Given the description of an element on the screen output the (x, y) to click on. 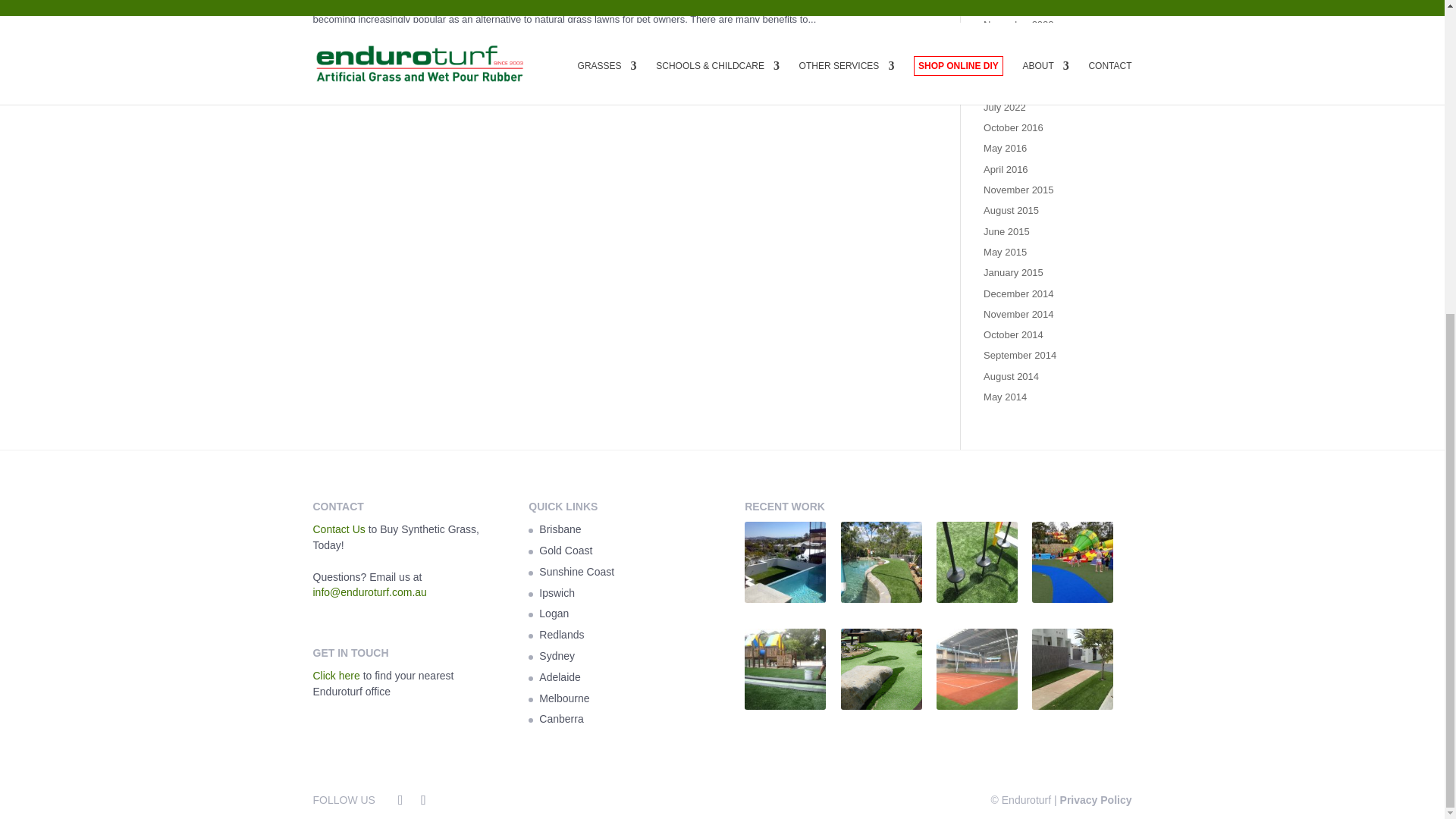
January 2023 (1013, 4)
